Given the description of an element on the screen output the (x, y) to click on. 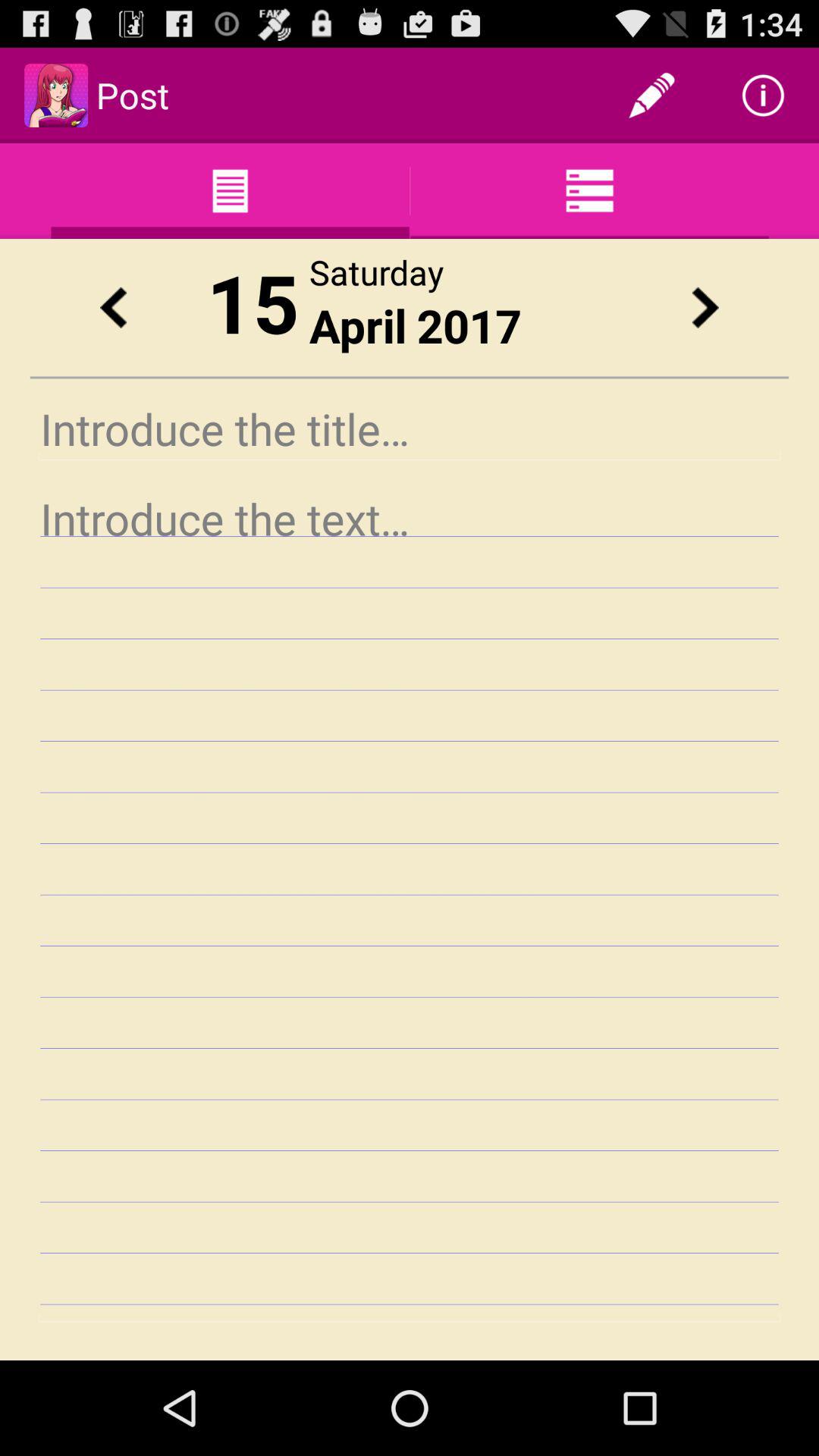
text entry area for calendar date (409, 904)
